Given the description of an element on the screen output the (x, y) to click on. 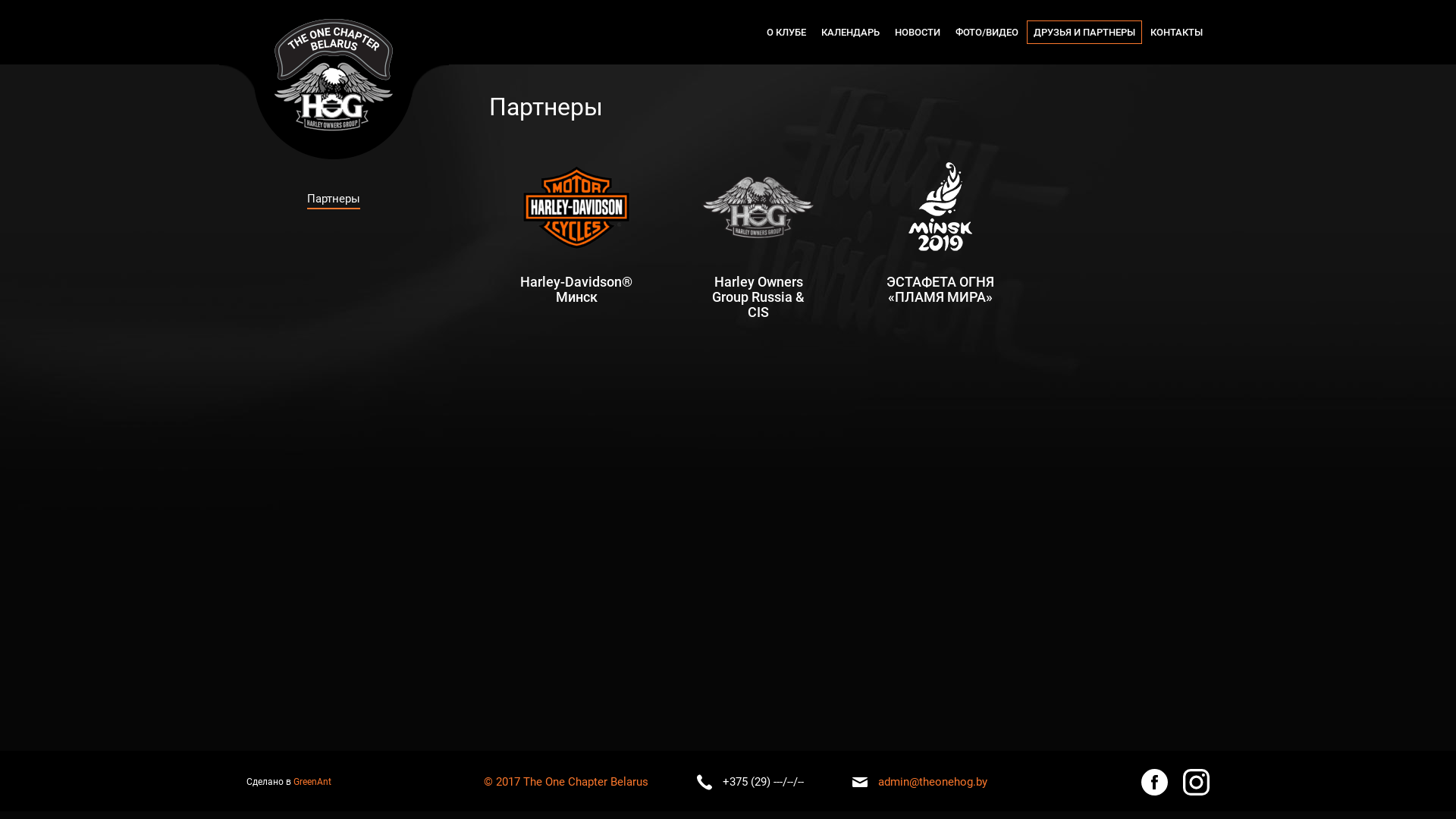
Harley Owners Group Russia & CIS Element type: text (758, 239)
GreenAnt Element type: text (312, 781)
admin@theonehog.by Element type: text (932, 781)
